Given the description of an element on the screen output the (x, y) to click on. 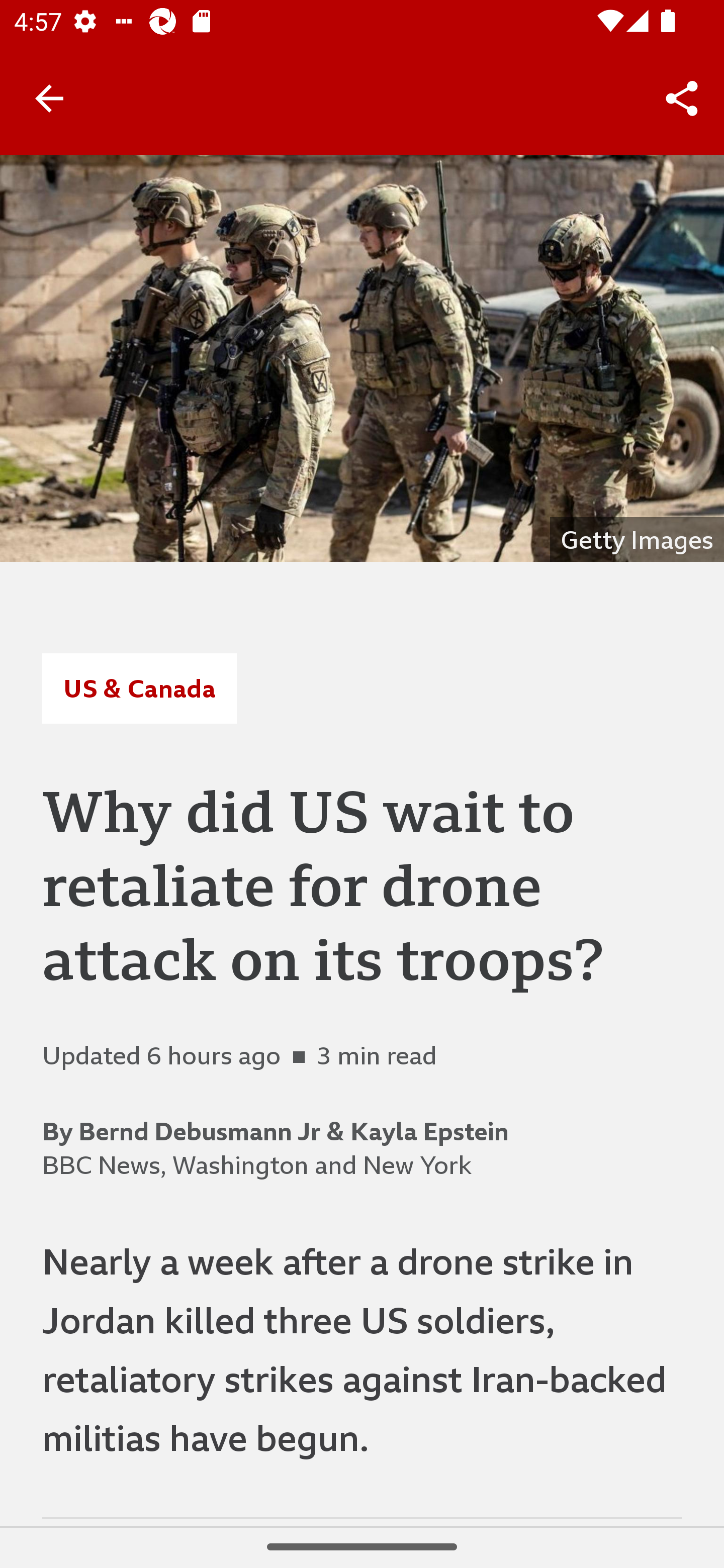
Back (49, 97)
Share (681, 98)
US troops in Syria in January (362, 358)
US & Canada (138, 688)
